Given the description of an element on the screen output the (x, y) to click on. 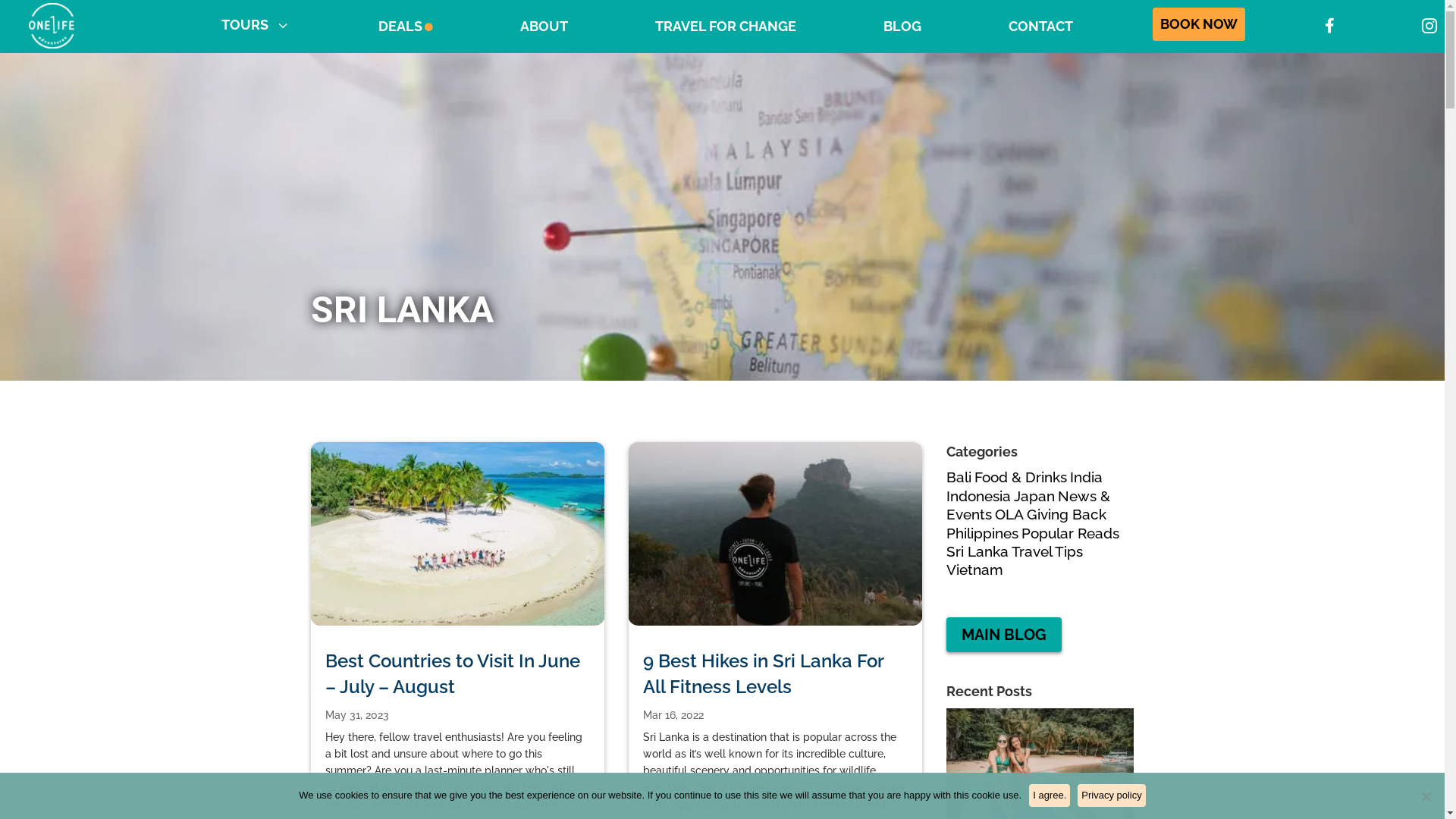
TRAVEL FOR CHANGE Element type: text (725, 26)
3
TOURS Element type: text (255, 24)
Food & Drinks Element type: text (1020, 476)
Sri Lanka Element type: text (977, 550)
India Element type: text (1086, 476)
Philippines Element type: text (982, 532)
Popular Reads Element type: text (1070, 532)
Travel Tips Element type: text (1046, 550)
I agree. Element type: text (1049, 795)
Japan Element type: text (1033, 495)
BLOG Element type: text (901, 26)
OLA Giving Back Element type: text (1050, 513)
BOOK NOW Element type: text (1198, 23)
Vietnam Element type: text (974, 569)
ABOUT Element type: text (543, 26)
MAIN BLOG Element type: text (1003, 634)
CONTACT Element type: text (1040, 26)
No Element type: hover (1425, 795)
News & Events Element type: text (1028, 504)
Bali Element type: text (958, 476)
Indonesia Element type: text (978, 495)
Privacy policy Element type: text (1111, 795)
9 Best Hikes in Sri Lanka For All Fitness Levels Element type: text (763, 673)
